Given the description of an element on the screen output the (x, y) to click on. 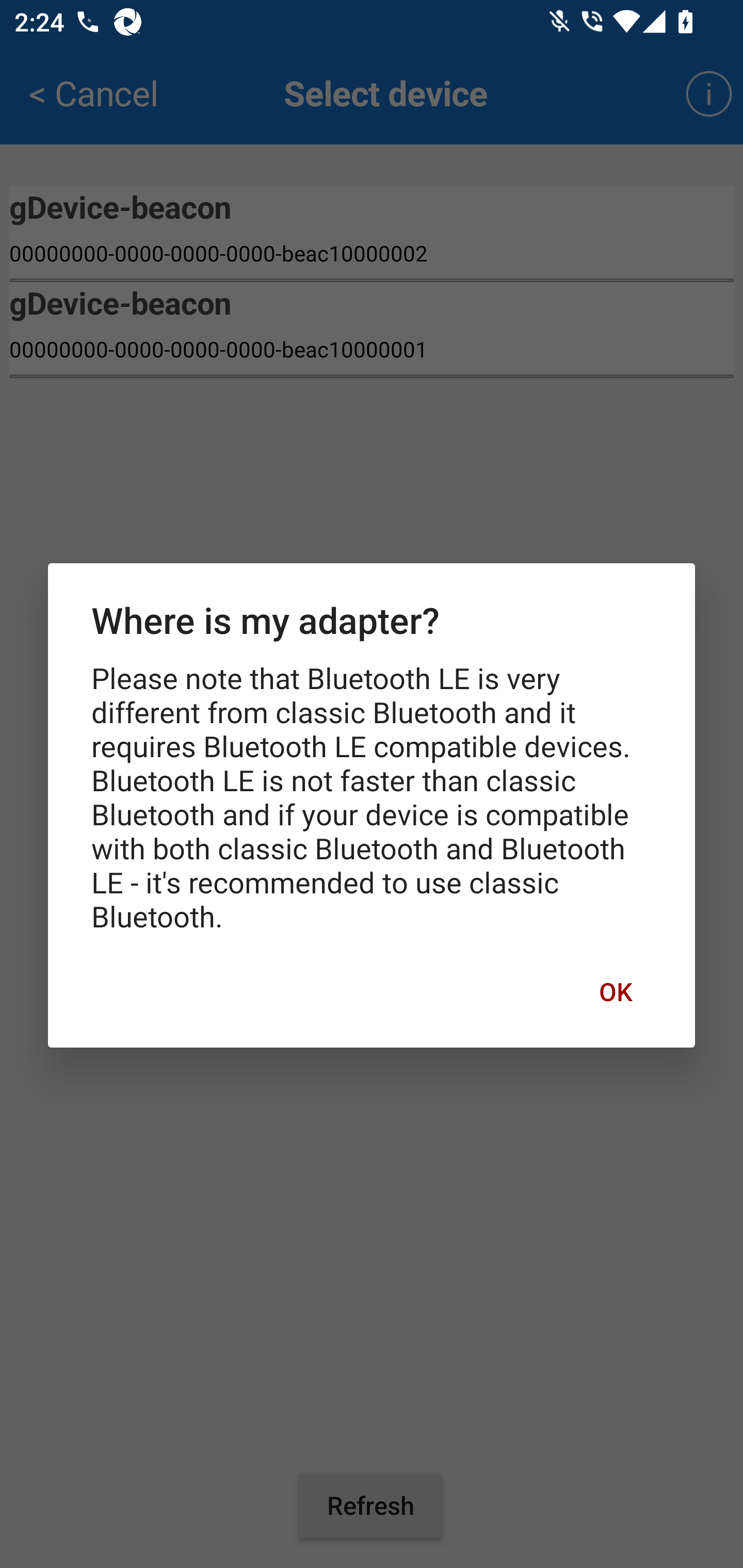
OK (615, 990)
